Given the description of an element on the screen output the (x, y) to click on. 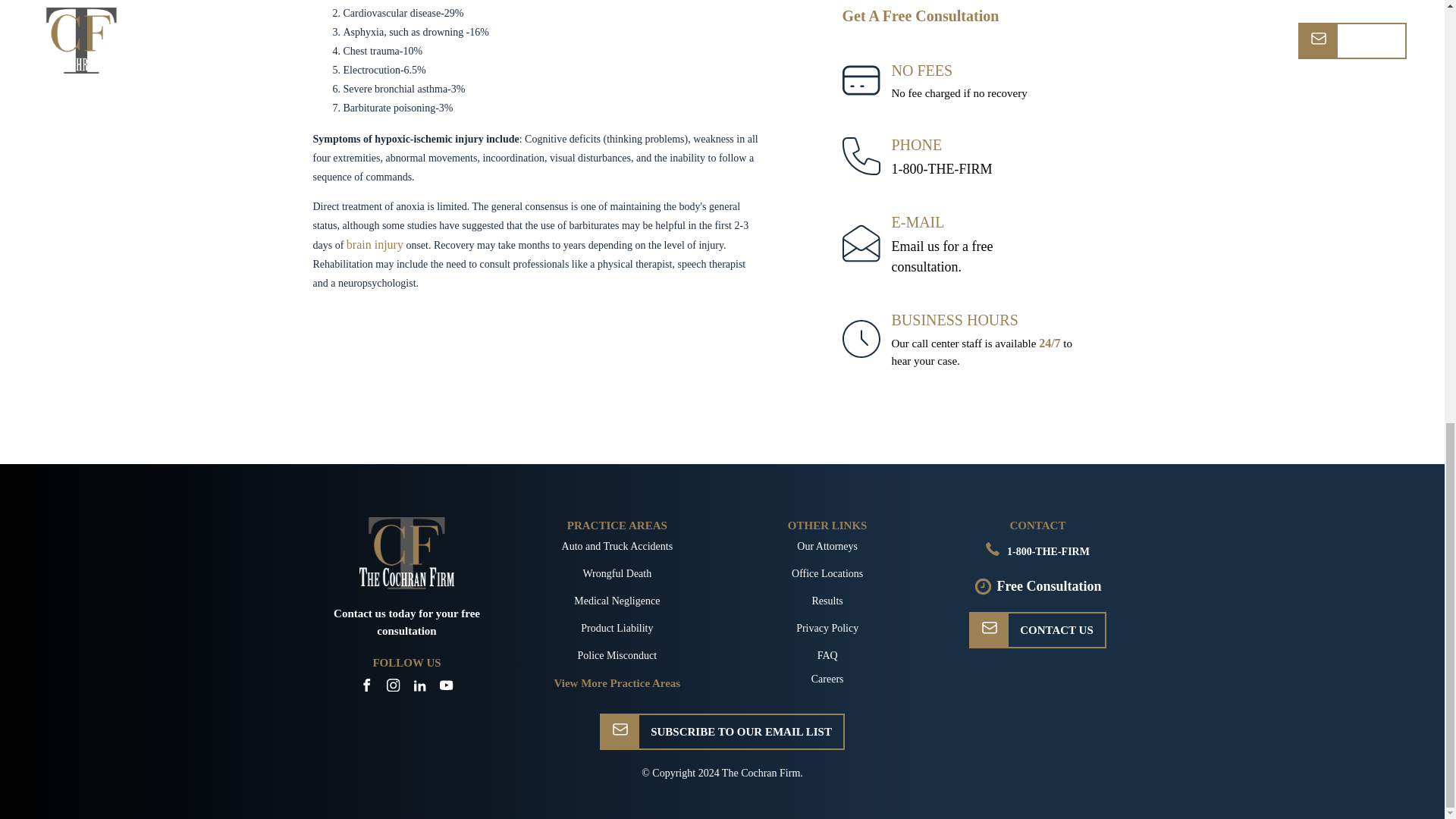
Envelope Icon (989, 627)
brain injury (941, 256)
1-800-THE-FIRM (374, 244)
Auto and Truck Accidents (941, 168)
Email us for a free consultation. (616, 546)
Contact us today for your free consultation (941, 256)
Phone Icon (405, 622)
1-800-THE-FIRM (991, 549)
